Given the description of an element on the screen output the (x, y) to click on. 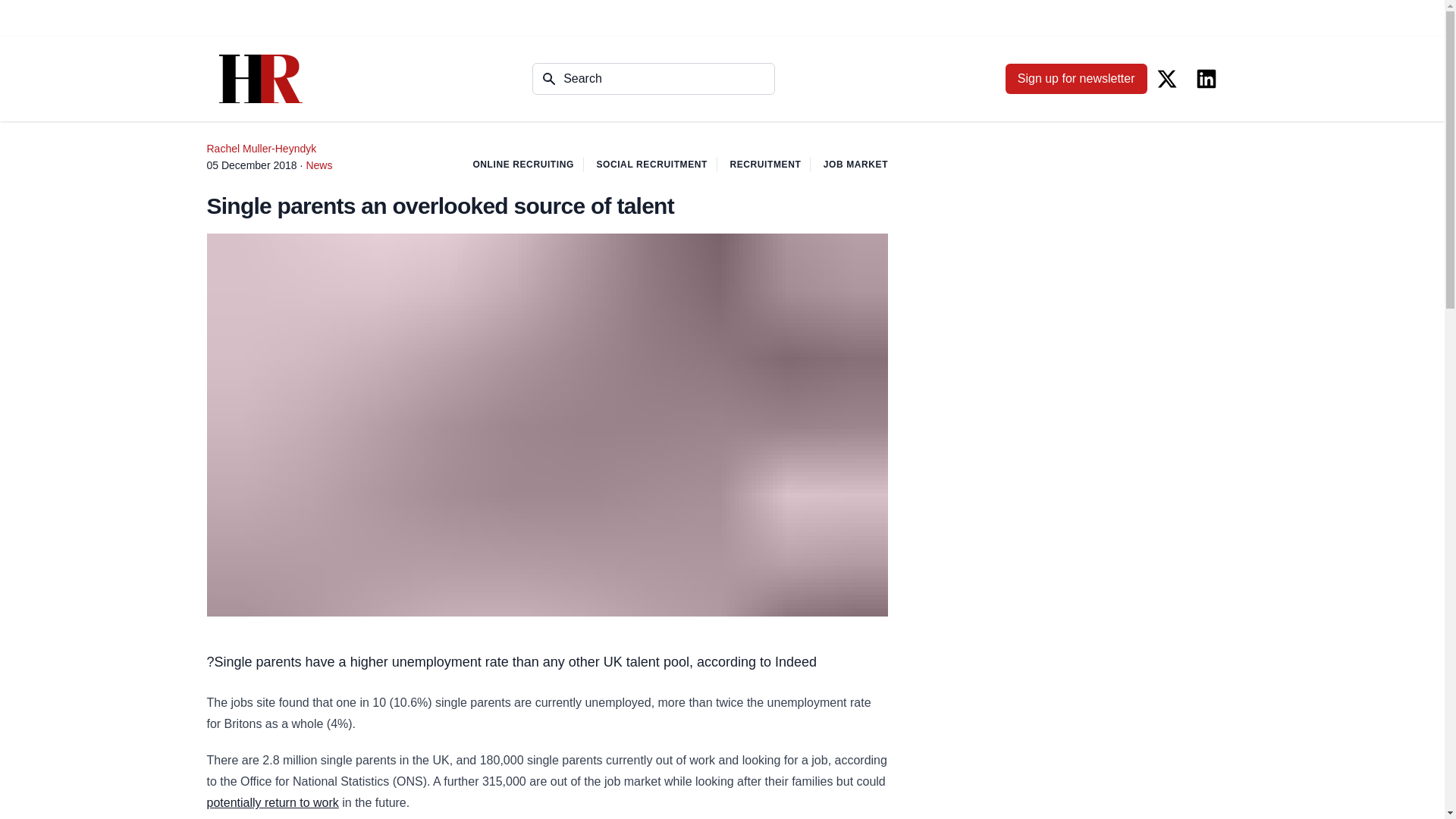
Sign up for newsletter (1076, 78)
